Given the description of an element on the screen output the (x, y) to click on. 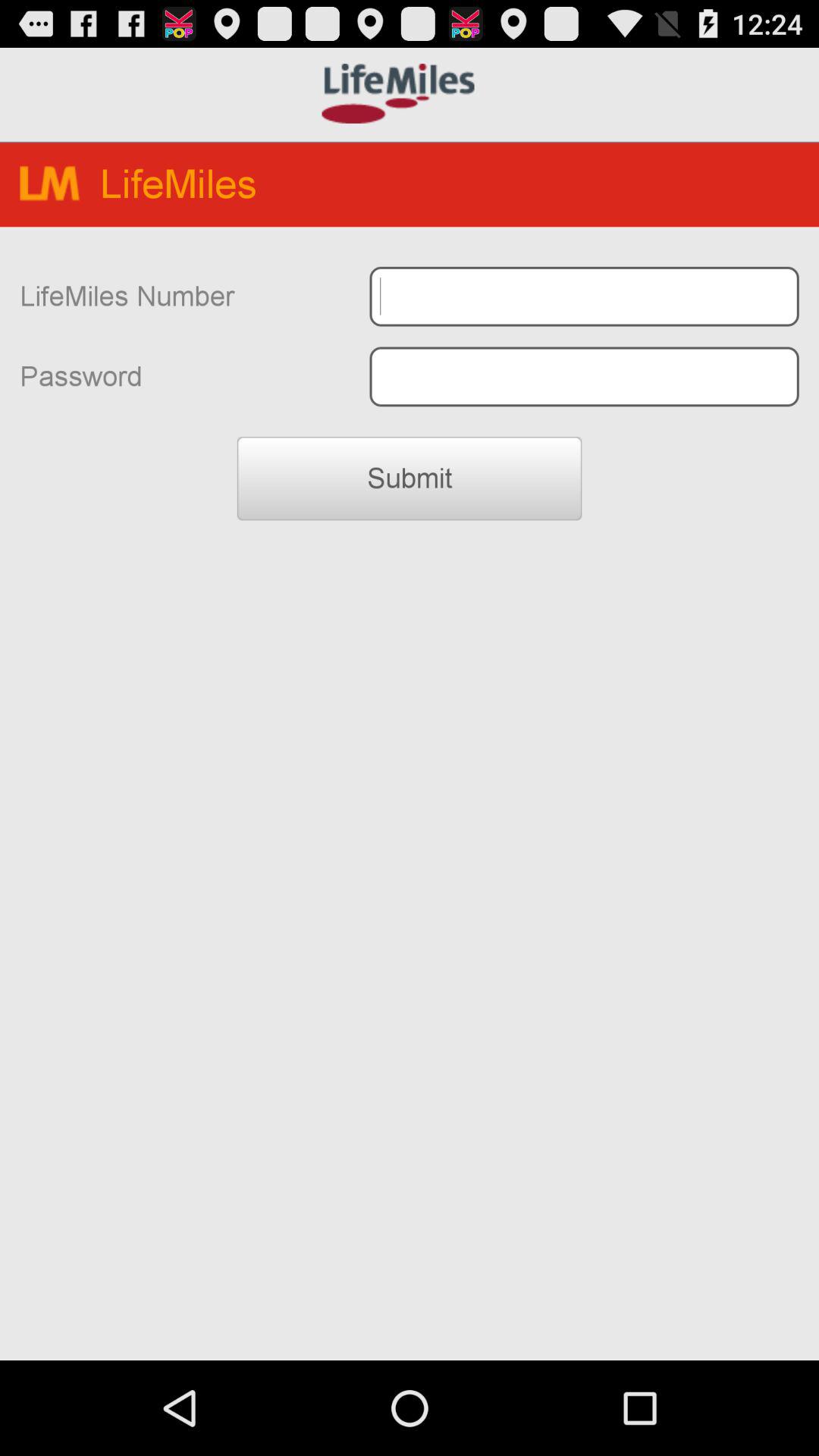
enter password (584, 376)
